Given the description of an element on the screen output the (x, y) to click on. 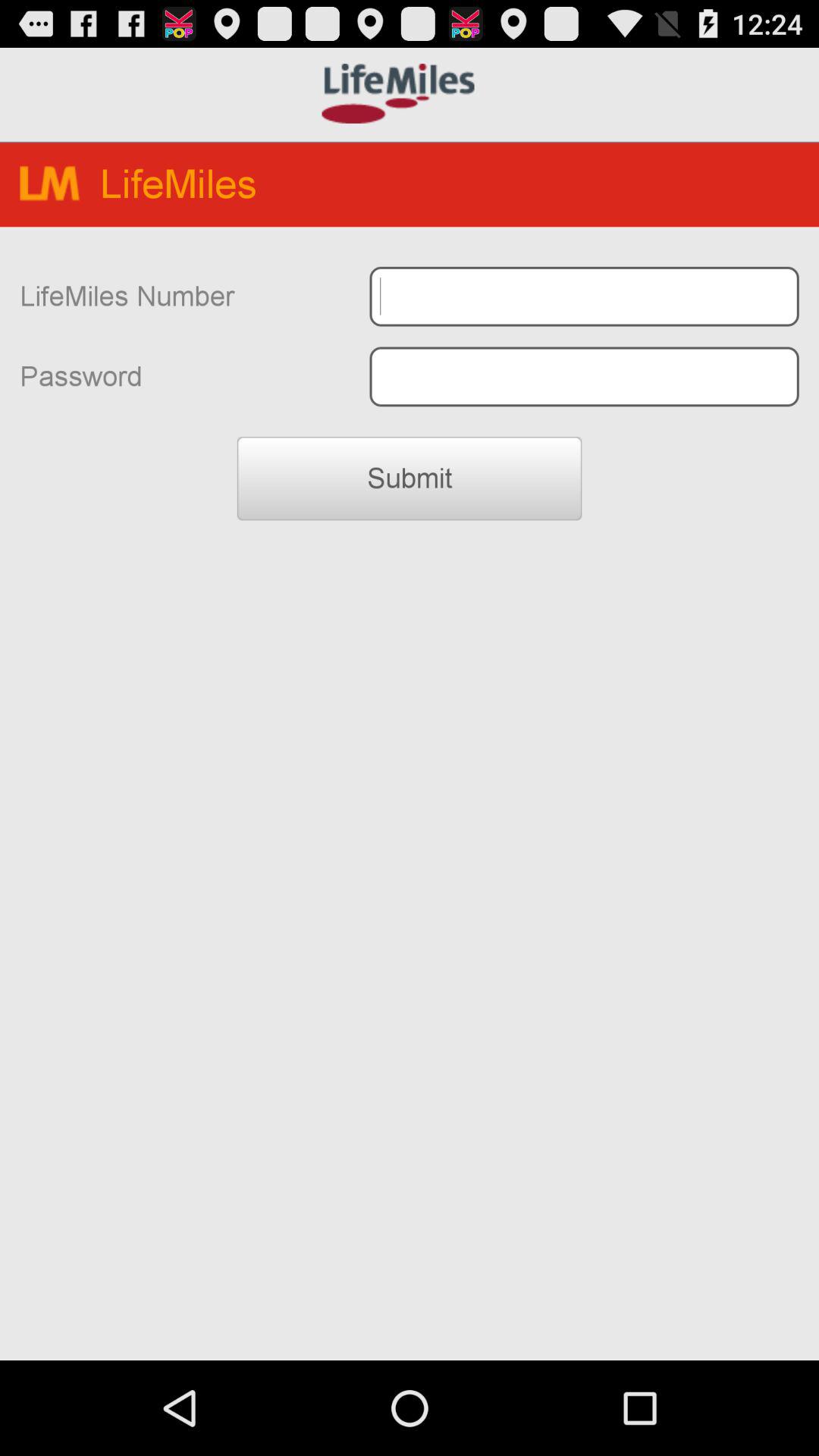
enter password (584, 376)
